Given the description of an element on the screen output the (x, y) to click on. 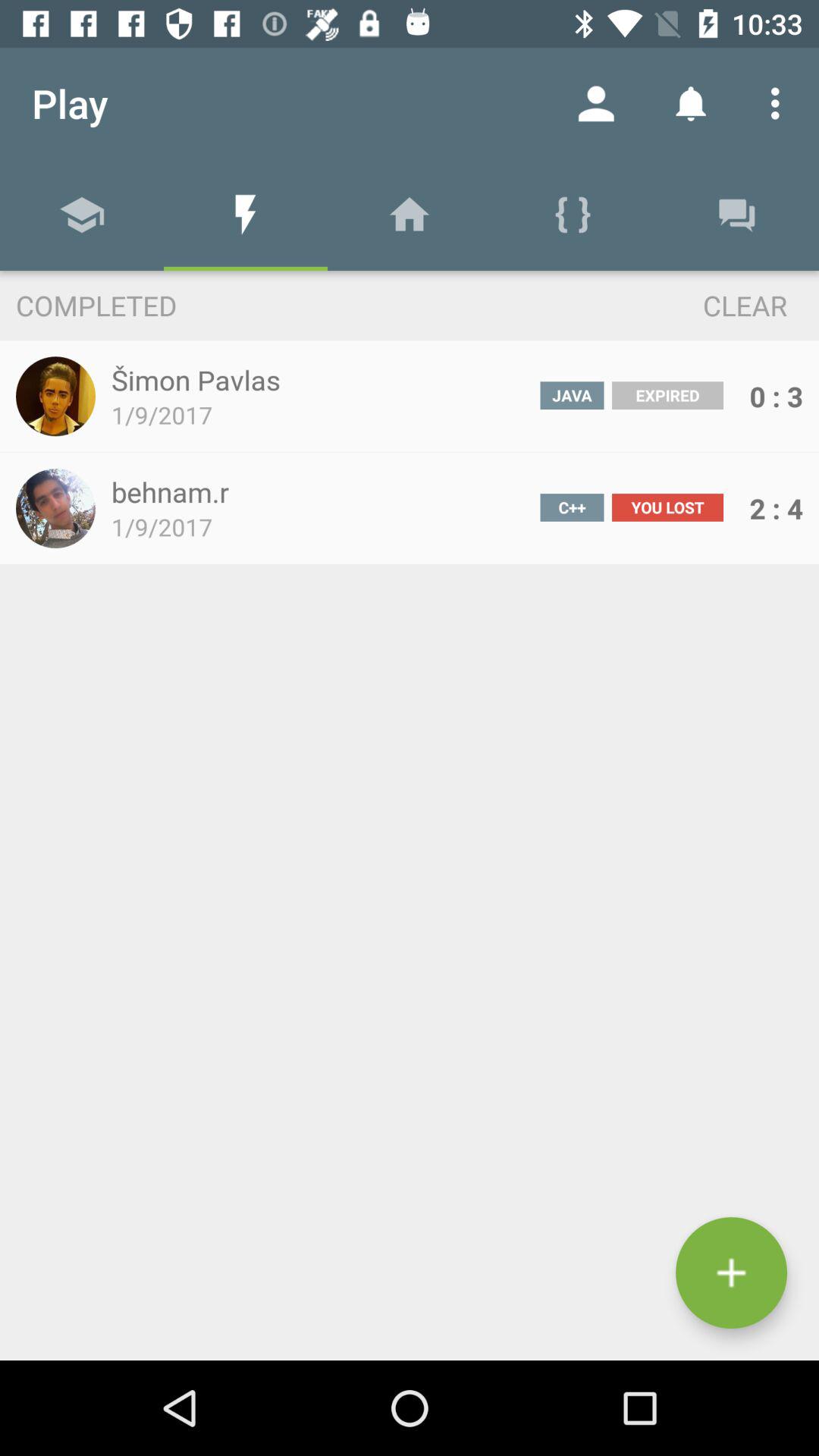
add coder (731, 1272)
